Given the description of an element on the screen output the (x, y) to click on. 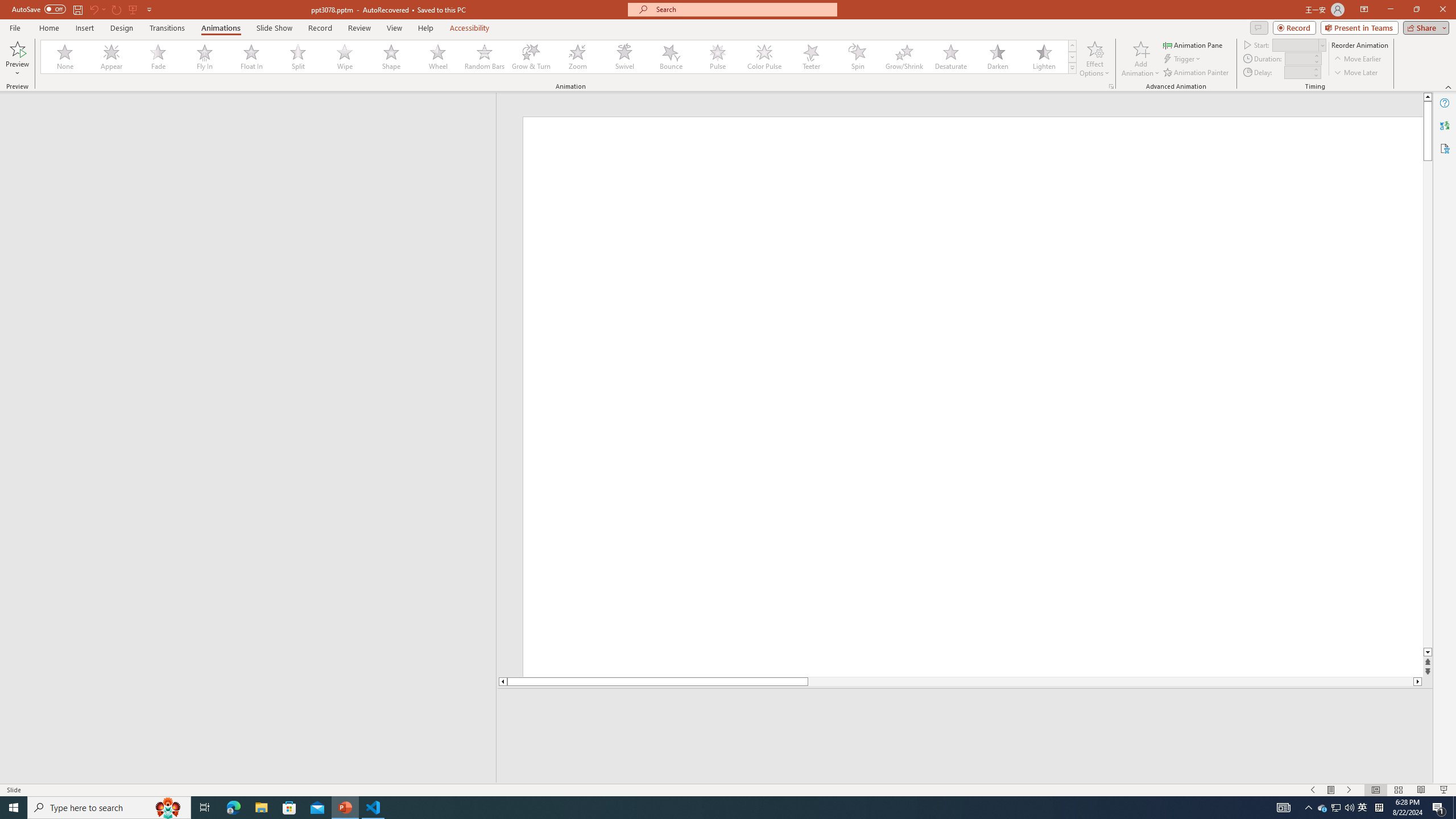
Add Animation (1141, 58)
Fade (158, 56)
Slide Show Previous On (1313, 790)
Appear (111, 56)
Lighten (1043, 56)
Animation Duration (1298, 58)
